Given the description of an element on the screen output the (x, y) to click on. 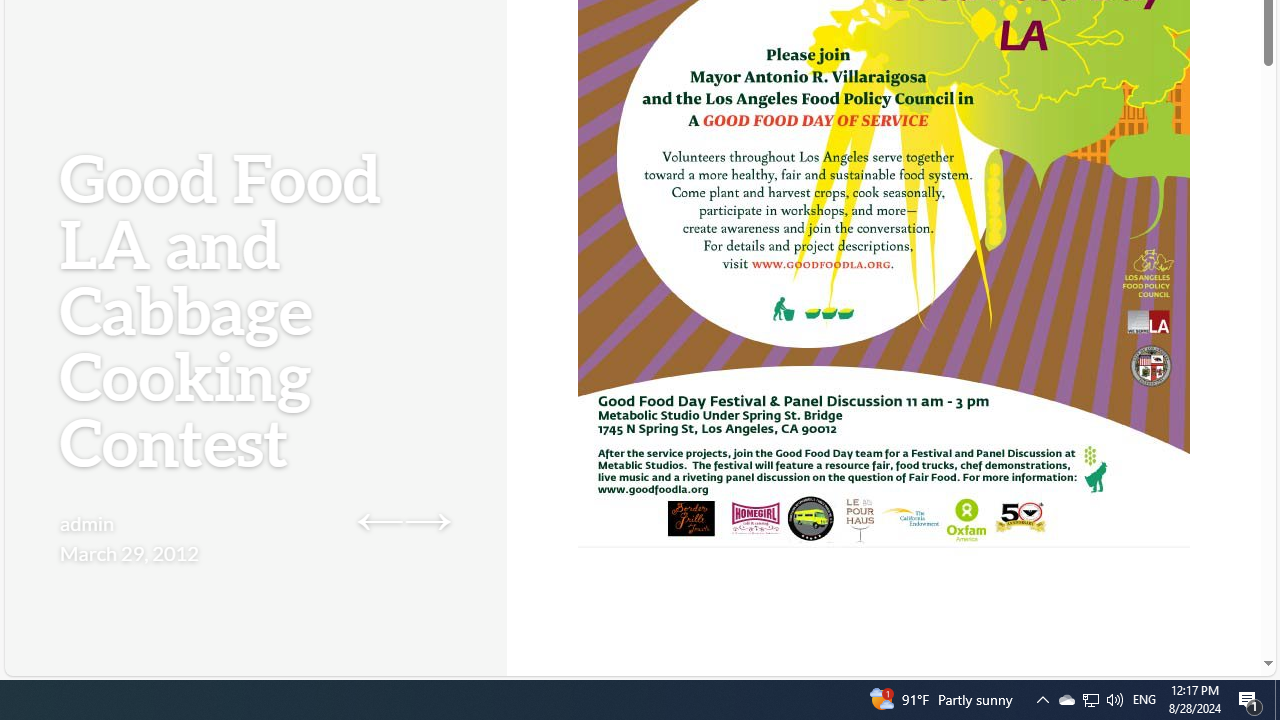
admin (87, 522)
March 29, 2012 (129, 552)
